Given the description of an element on the screen output the (x, y) to click on. 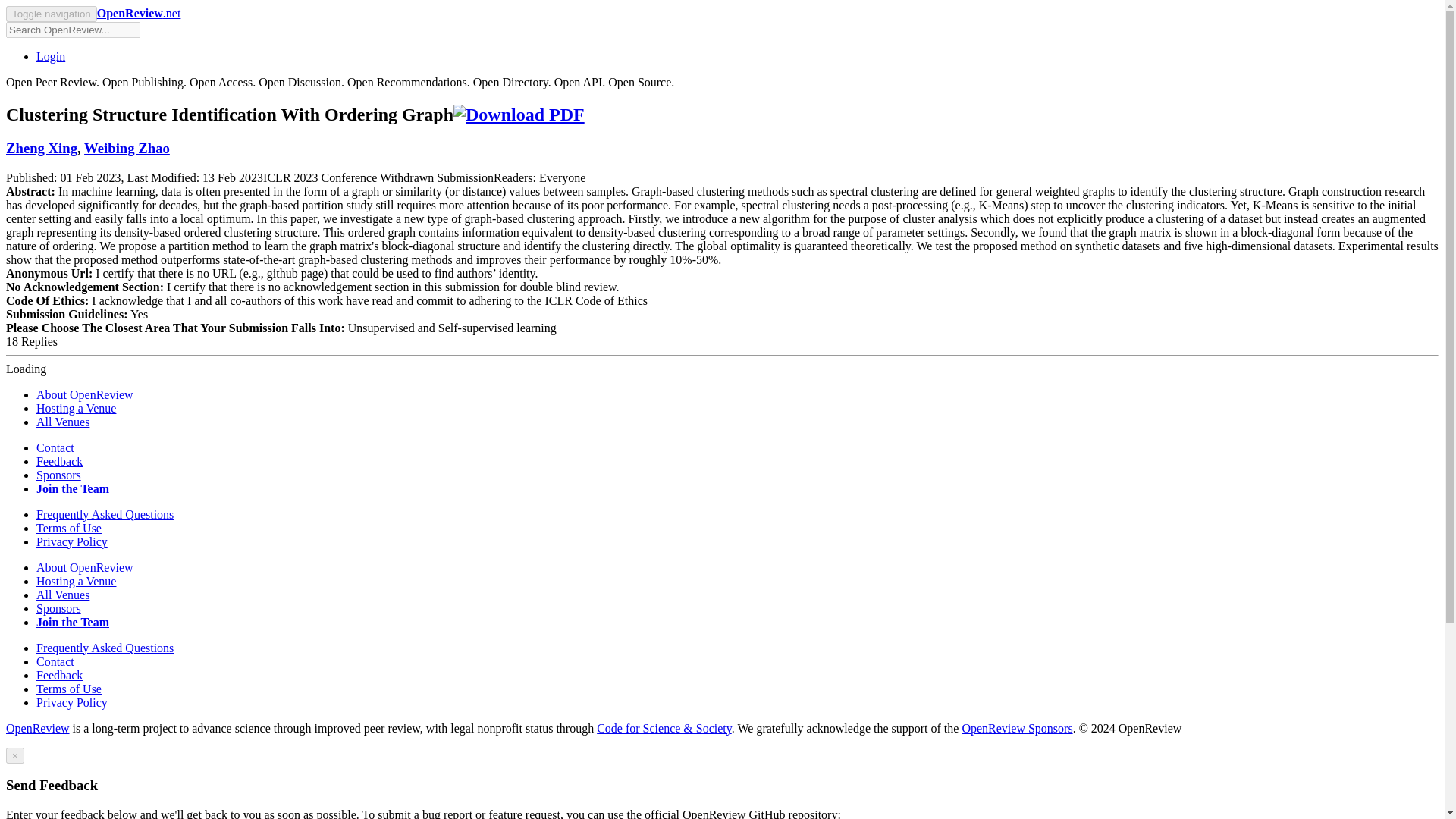
Frequently Asked Questions (104, 647)
Hosting a Venue (76, 408)
Join the Team (72, 621)
All Venues (62, 594)
Toggle navigation (51, 13)
Zheng Xing (41, 148)
OpenReview (37, 727)
Feedback (59, 461)
All Venues (62, 421)
Sponsors (58, 474)
Download PDF (518, 114)
Login (50, 56)
Contact (55, 447)
Privacy Policy (71, 541)
Terms of Use (68, 688)
